Given the description of an element on the screen output the (x, y) to click on. 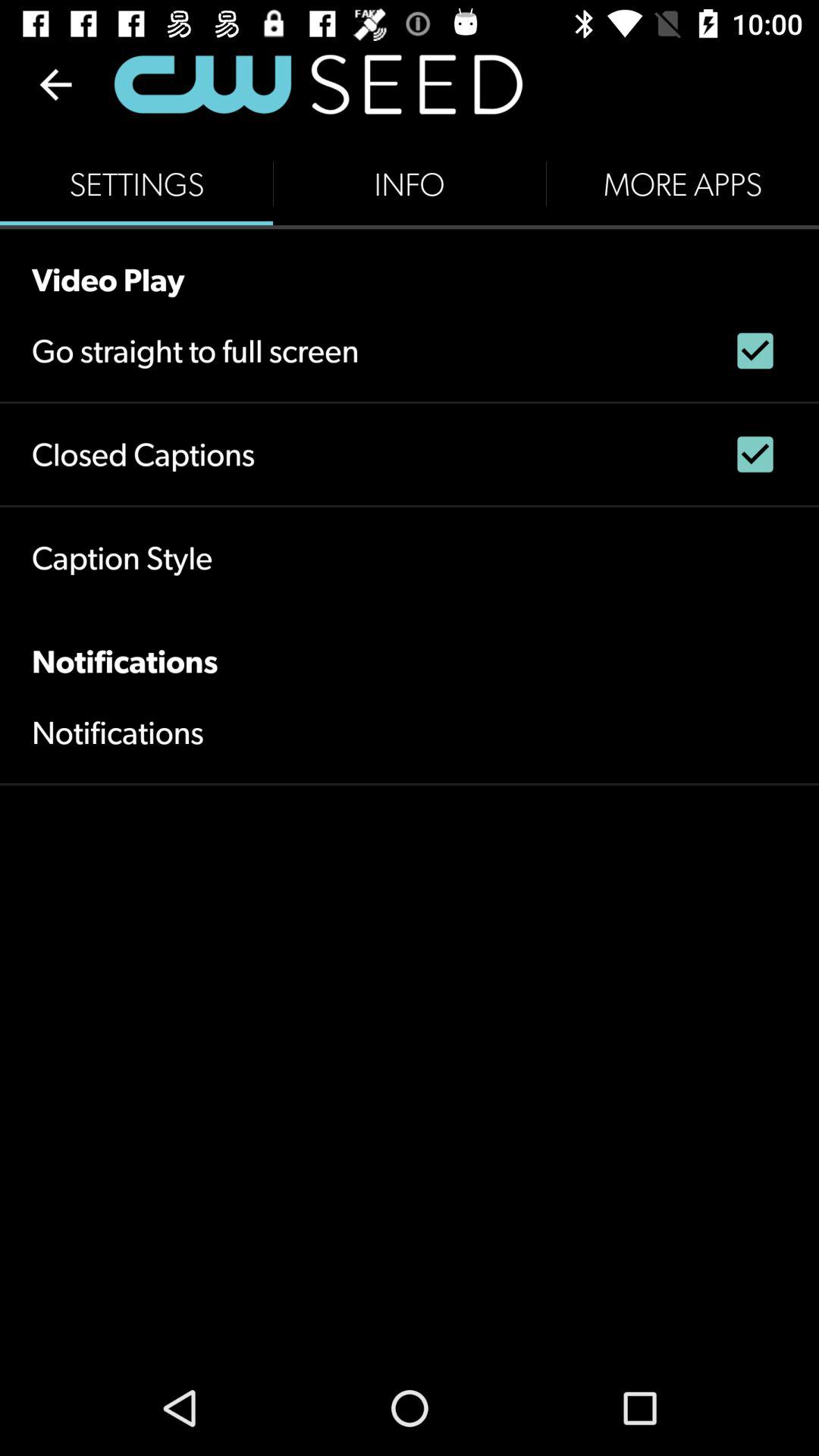
choose more apps (682, 184)
